Given the description of an element on the screen output the (x, y) to click on. 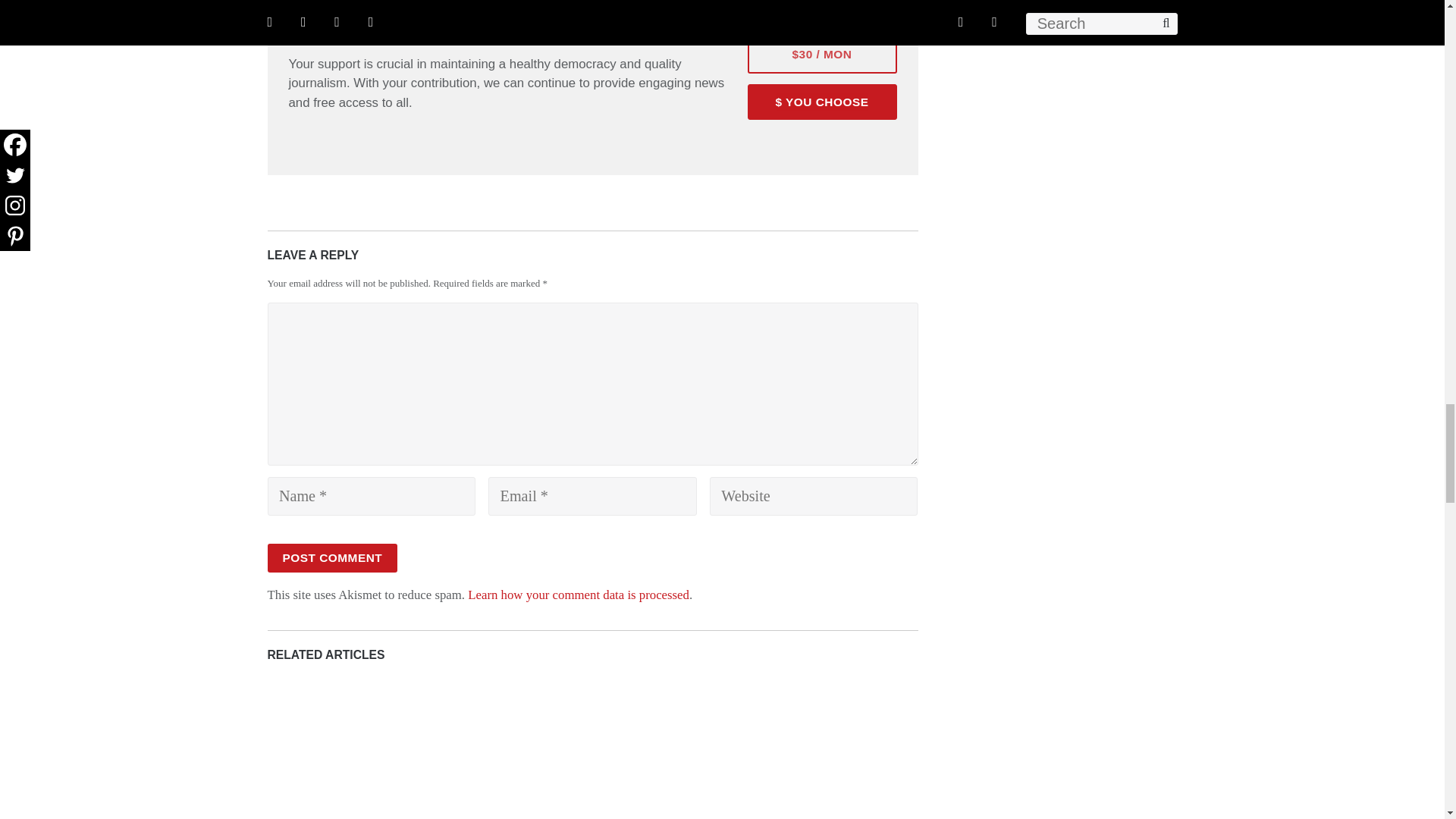
Post Comment (331, 557)
Post Comment (331, 557)
Learn how your comment data is processed (577, 594)
